Given the description of an element on the screen output the (x, y) to click on. 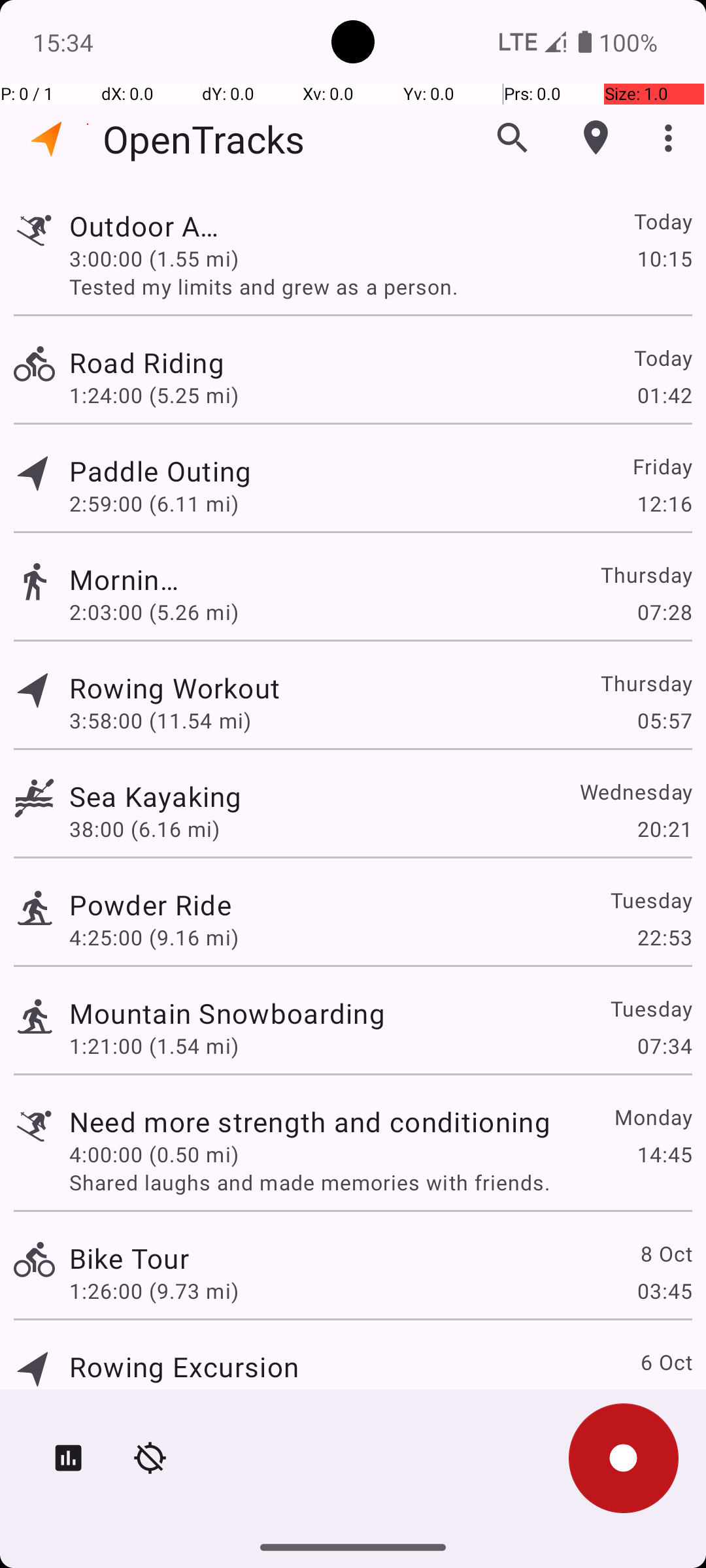
Outdoor Adventure Element type: android.widget.TextView (150, 225)
3:00:00 (1.55 mi) Element type: android.widget.TextView (153, 258)
10:15 Element type: android.widget.TextView (664, 258)
Tested my limits and grew as a person. Element type: android.widget.TextView (380, 286)
Road Riding Element type: android.widget.TextView (226, 361)
1:24:00 (5.25 mi) Element type: android.widget.TextView (153, 394)
01:42 Element type: android.widget.TextView (664, 394)
Paddle Outing Element type: android.widget.TextView (309, 470)
2:59:00 (6.11 mi) Element type: android.widget.TextView (153, 503)
12:16 Element type: android.widget.TextView (664, 503)
Morning Walk Element type: android.widget.TextView (128, 578)
2:03:00 (5.26 mi) Element type: android.widget.TextView (153, 611)
07:28 Element type: android.widget.TextView (664, 611)
Rowing Workout Element type: android.widget.TextView (183, 687)
3:58:00 (11.54 mi) Element type: android.widget.TextView (159, 720)
05:57 Element type: android.widget.TextView (664, 720)
Sea Kayaking Element type: android.widget.TextView (155, 795)
38:00 (6.16 mi) Element type: android.widget.TextView (144, 828)
20:21 Element type: android.widget.TextView (664, 828)
Powder Ride Element type: android.widget.TextView (150, 904)
4:25:00 (9.16 mi) Element type: android.widget.TextView (153, 937)
22:53 Element type: android.widget.TextView (664, 937)
Mountain Snowboarding Element type: android.widget.TextView (226, 1012)
1:21:00 (1.54 mi) Element type: android.widget.TextView (153, 1045)
07:34 Element type: android.widget.TextView (664, 1045)
Need more strength and conditioning Element type: android.widget.TextView (309, 1121)
4:00:00 (0.50 mi) Element type: android.widget.TextView (153, 1154)
14:45 Element type: android.widget.TextView (664, 1154)
Shared laughs and made memories with friends. Element type: android.widget.TextView (380, 1182)
Bike Tour Element type: android.widget.TextView (128, 1257)
1:26:00 (9.73 mi) Element type: android.widget.TextView (153, 1290)
03:45 Element type: android.widget.TextView (664, 1290)
Rowing Excursion Element type: android.widget.TextView (183, 1366)
6 Oct Element type: android.widget.TextView (665, 1361)
4:18:00 (2.23 mi) Element type: android.widget.TextView (153, 1399)
09:02 Element type: android.widget.TextView (664, 1399)
